Given the description of an element on the screen output the (x, y) to click on. 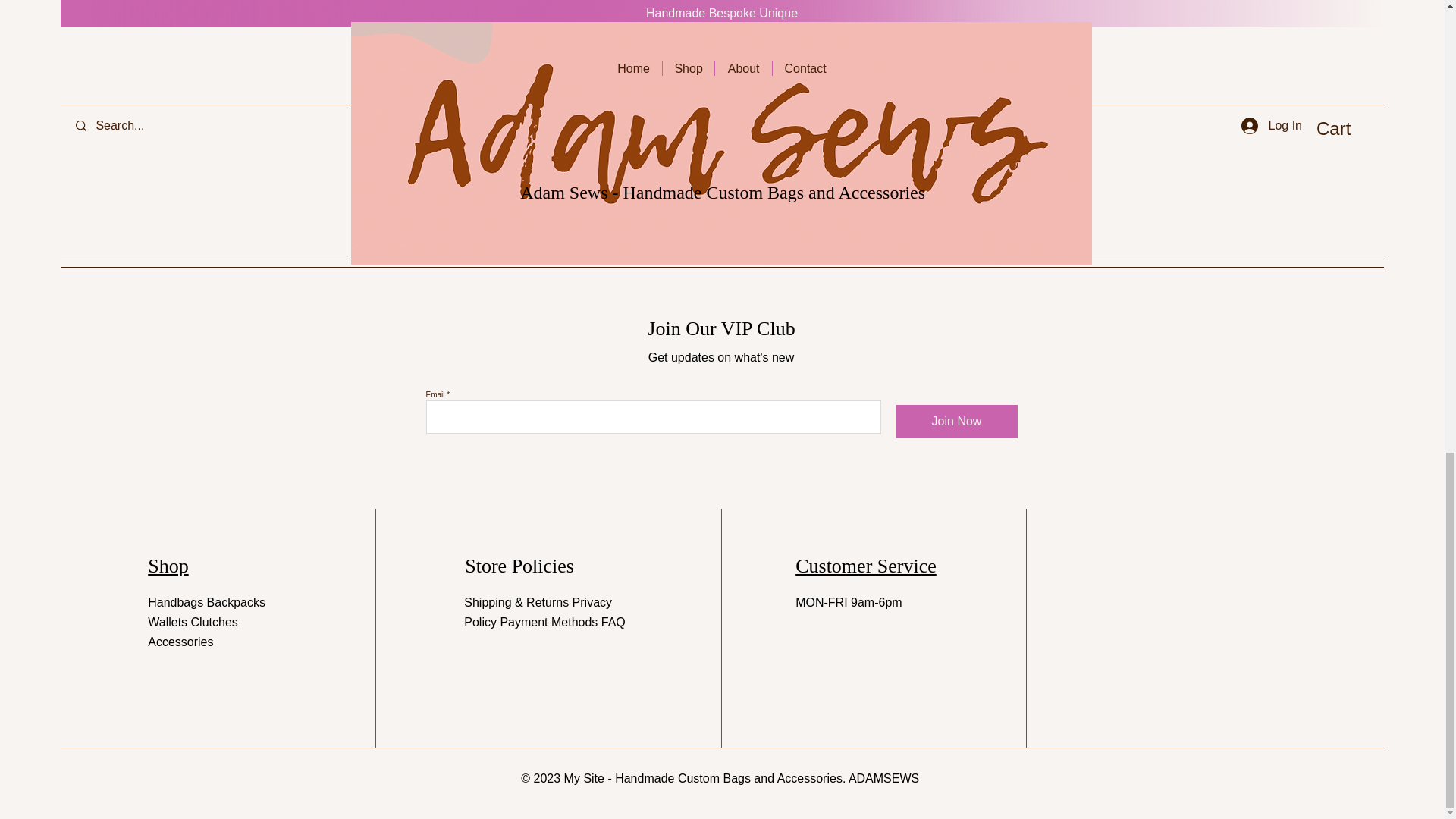
Customer Service (865, 566)
Join Now (956, 421)
Shop (167, 566)
Handbags Backpacks Wallets Clutches Accessories (206, 621)
